Given the description of an element on the screen output the (x, y) to click on. 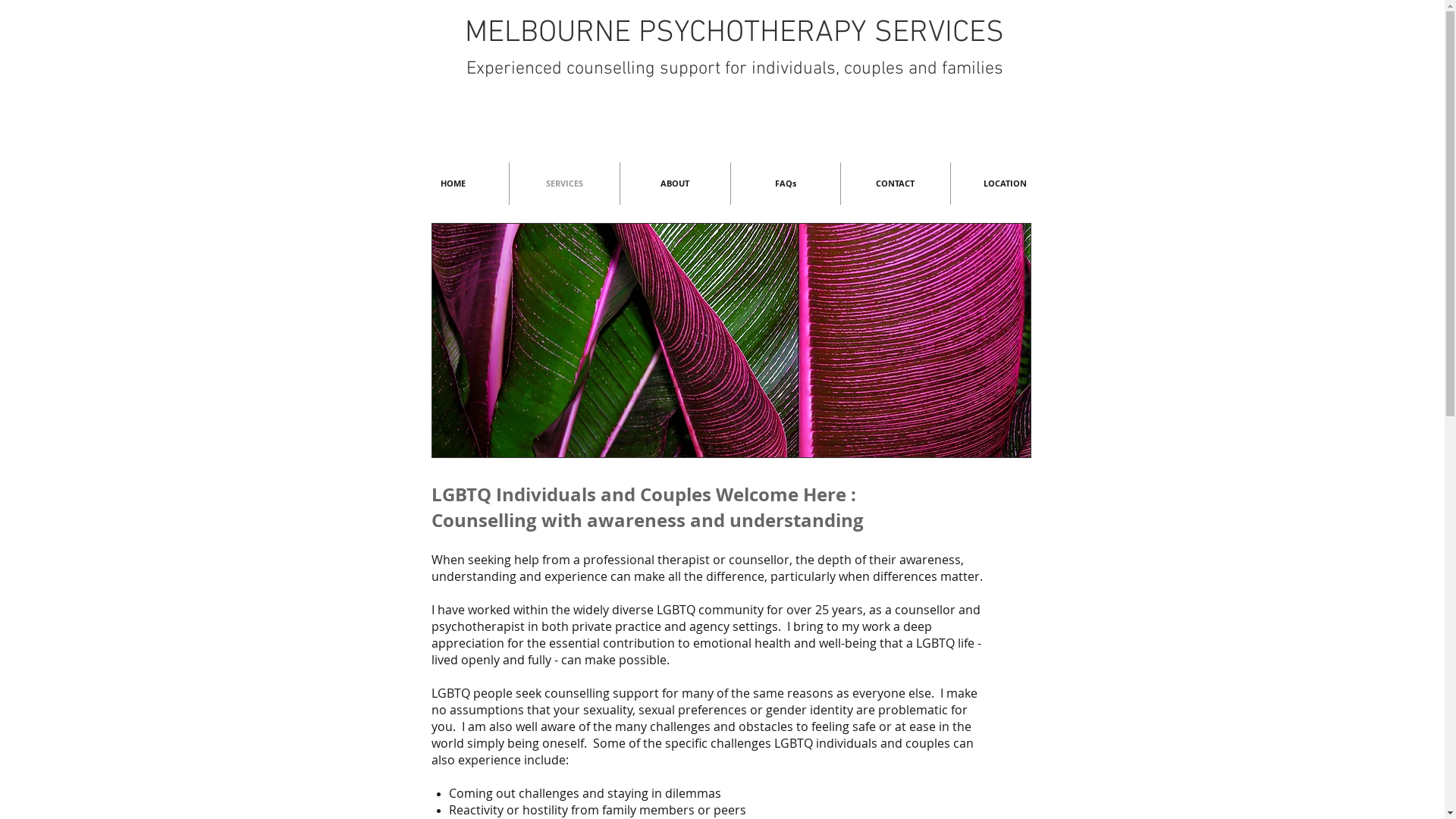
HOME Element type: text (452, 183)
LOCATION Element type: text (1005, 183)
FAQs Element type: text (785, 183)
ABOUT Element type: text (675, 183)
CONTACT Element type: text (894, 183)
SERVICES Element type: text (564, 183)
